Given the description of an element on the screen output the (x, y) to click on. 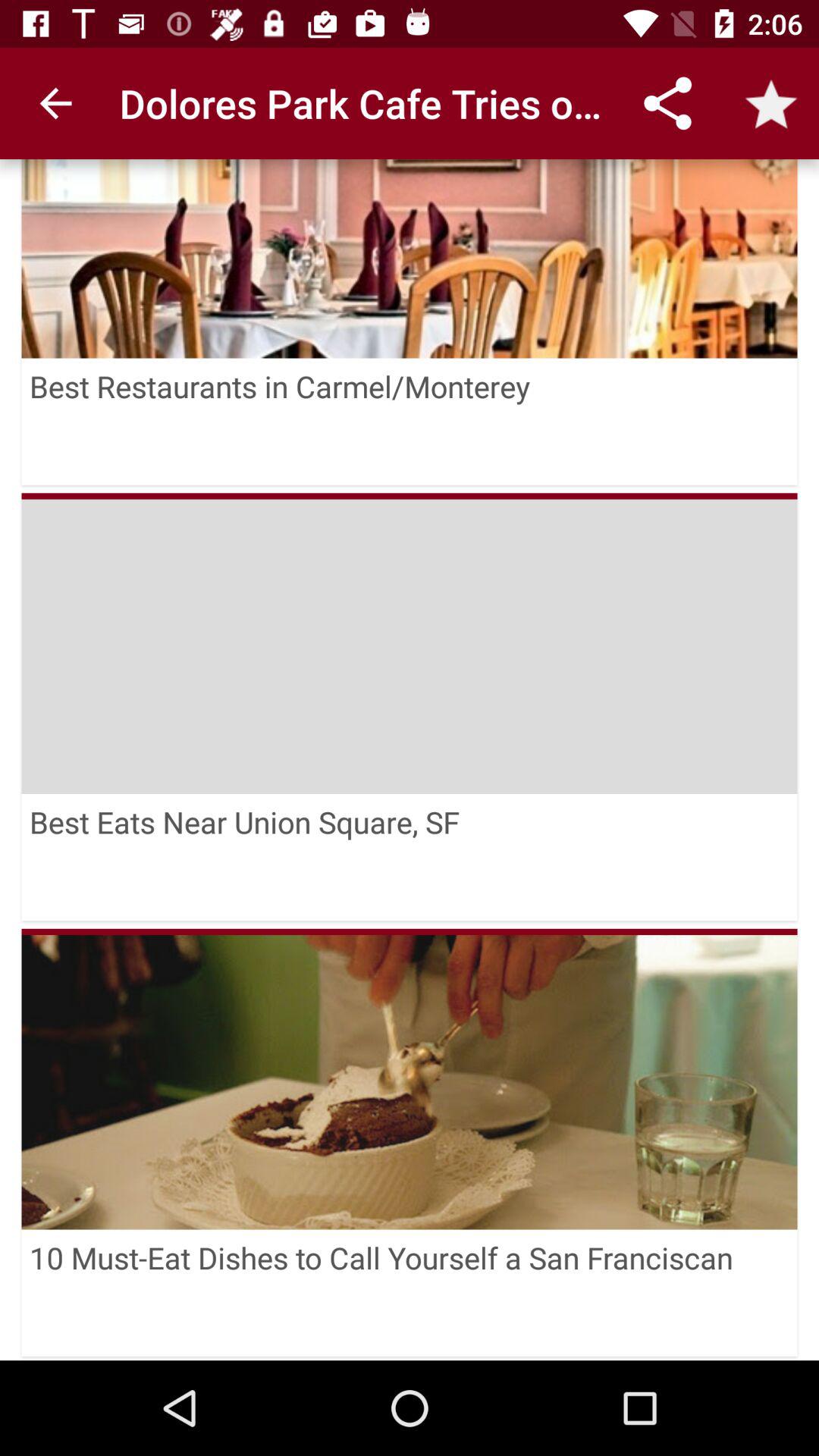
launch item above the 10 must eat item (409, 1078)
